Given the description of an element on the screen output the (x, y) to click on. 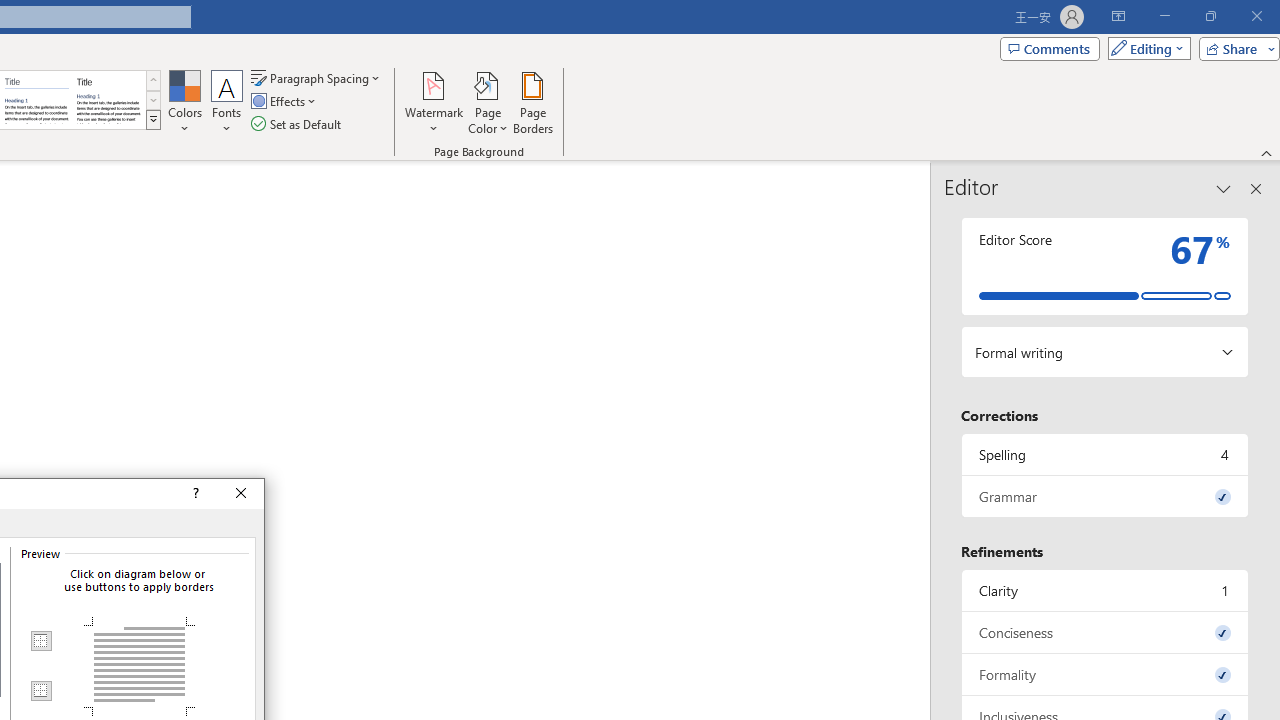
MSO Generic Control Container (40, 641)
Editor Score 67% (1105, 266)
Editing (1144, 47)
Style Set (153, 120)
Grammar, 0 issues. Press space or enter to review items. (1105, 495)
Page Color (487, 102)
Word 2013 (108, 100)
Spelling, 4 issues. Press space or enter to review items. (1105, 454)
Set as Default (298, 124)
